Given the description of an element on the screen output the (x, y) to click on. 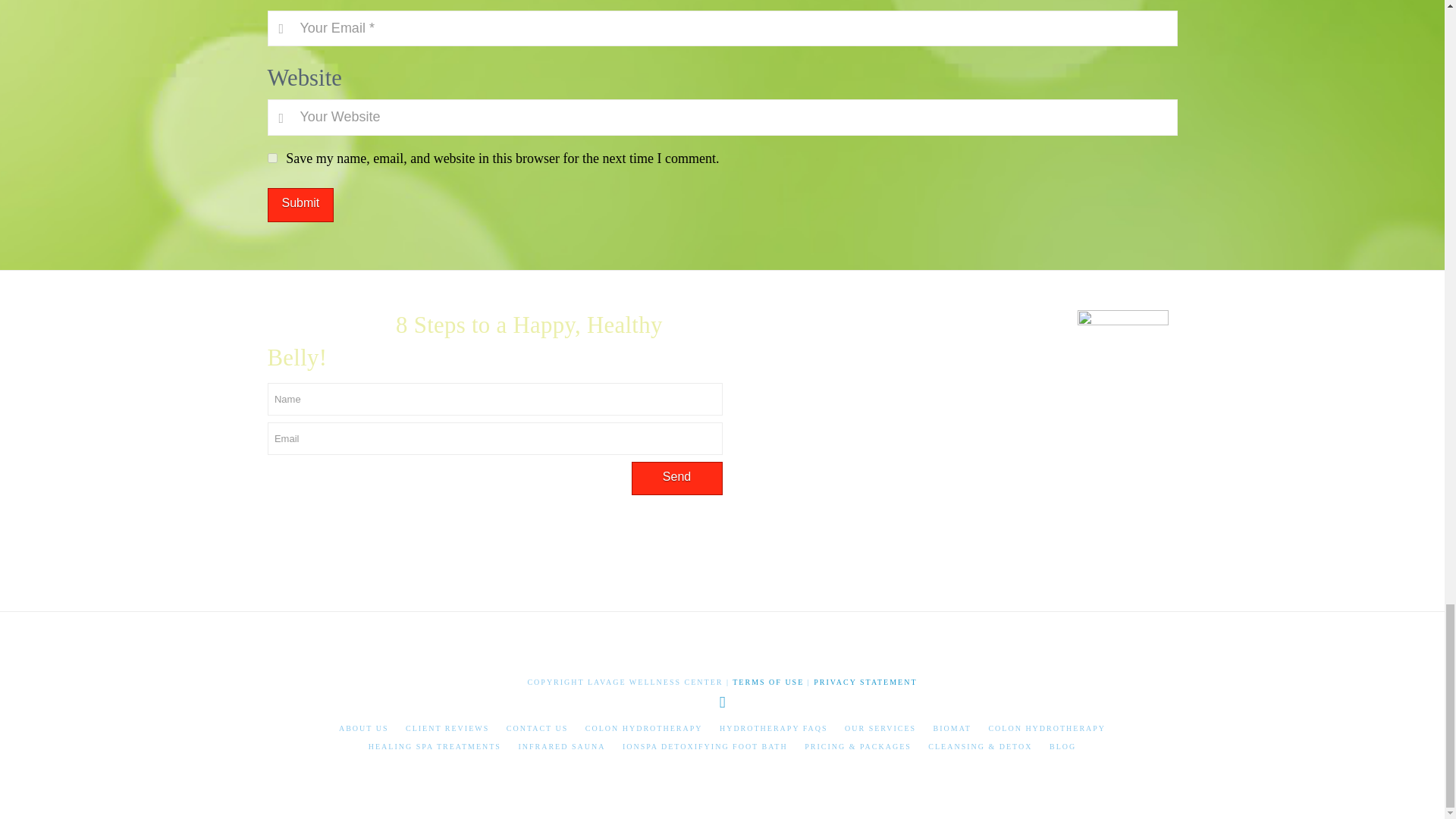
yes (271, 157)
Send (676, 478)
Submit (299, 204)
